Given the description of an element on the screen output the (x, y) to click on. 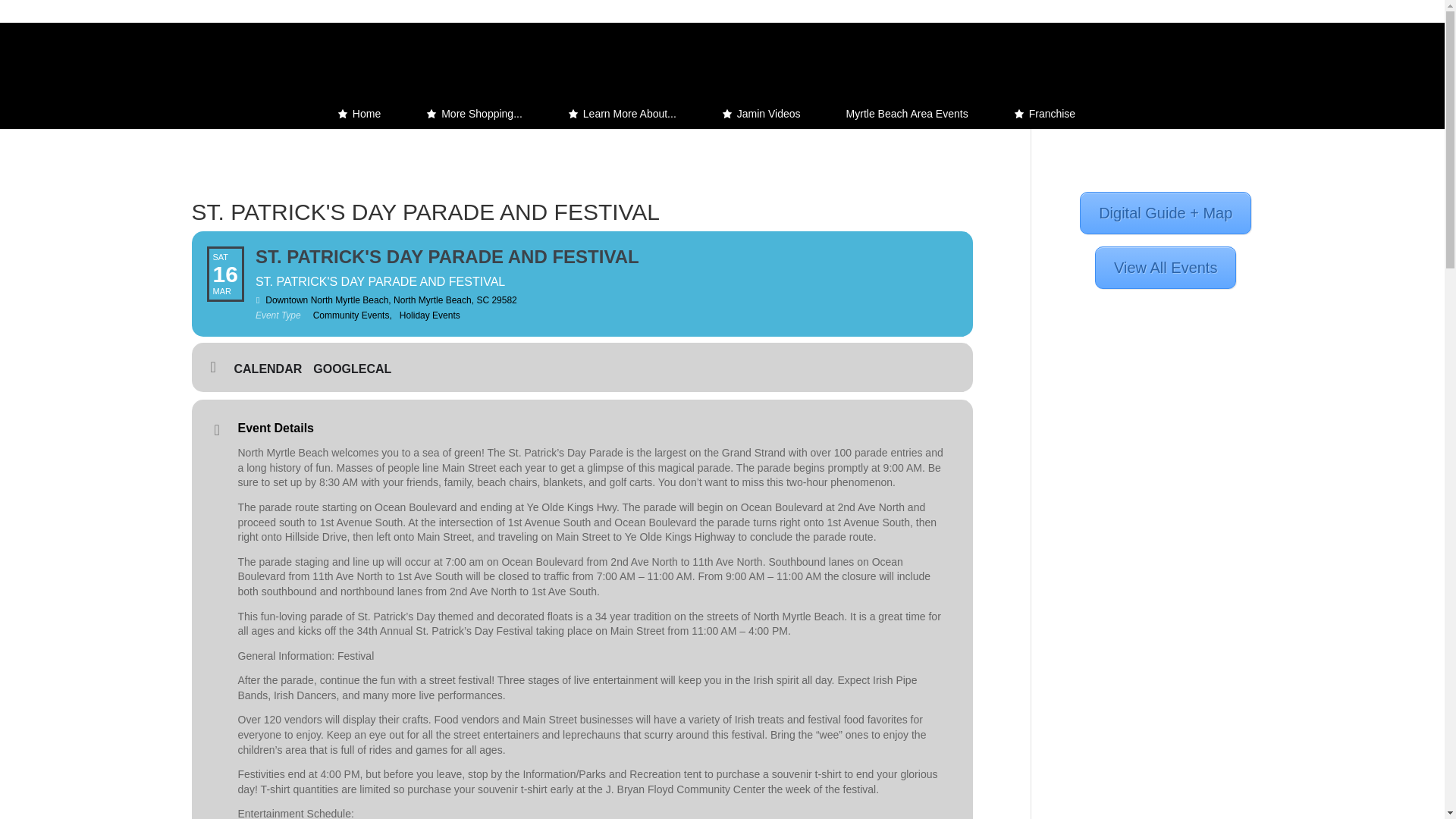
Learn More About... (622, 113)
Add to google calendar (358, 368)
More Shopping... (474, 113)
Add to your calendar (272, 368)
Home (359, 113)
